Given the description of an element on the screen output the (x, y) to click on. 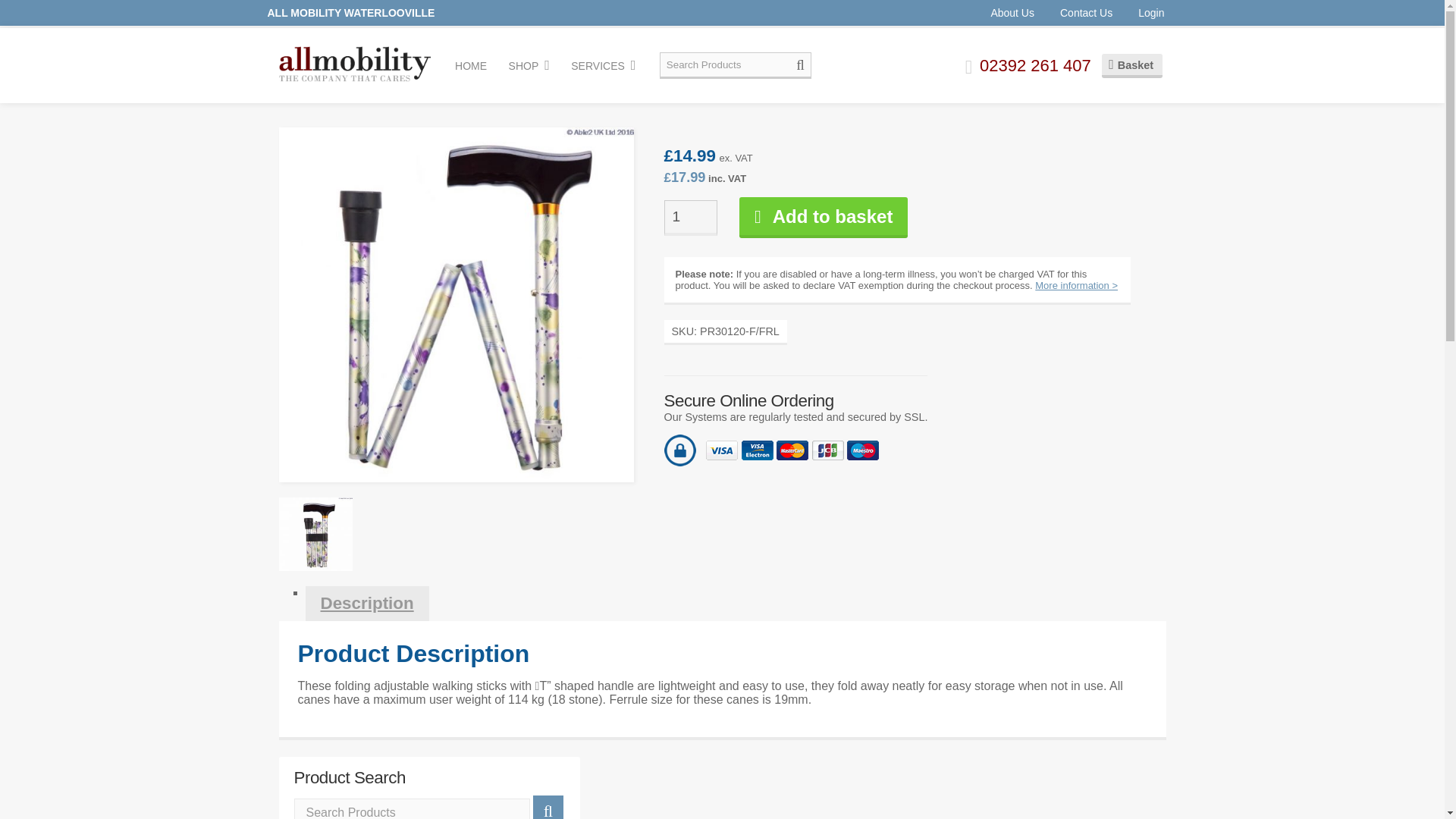
HOME (469, 65)
Login (1150, 12)
SERVICES (603, 65)
Search Products (734, 65)
1 (690, 217)
SHOP (528, 65)
Contact Us (1085, 12)
All Mobility (354, 63)
View your shopping basket (1131, 64)
Qty (690, 217)
Basket (1131, 64)
Description (366, 603)
Add to basket (823, 217)
About Us (1011, 12)
Search Products (411, 808)
